Given the description of an element on the screen output the (x, y) to click on. 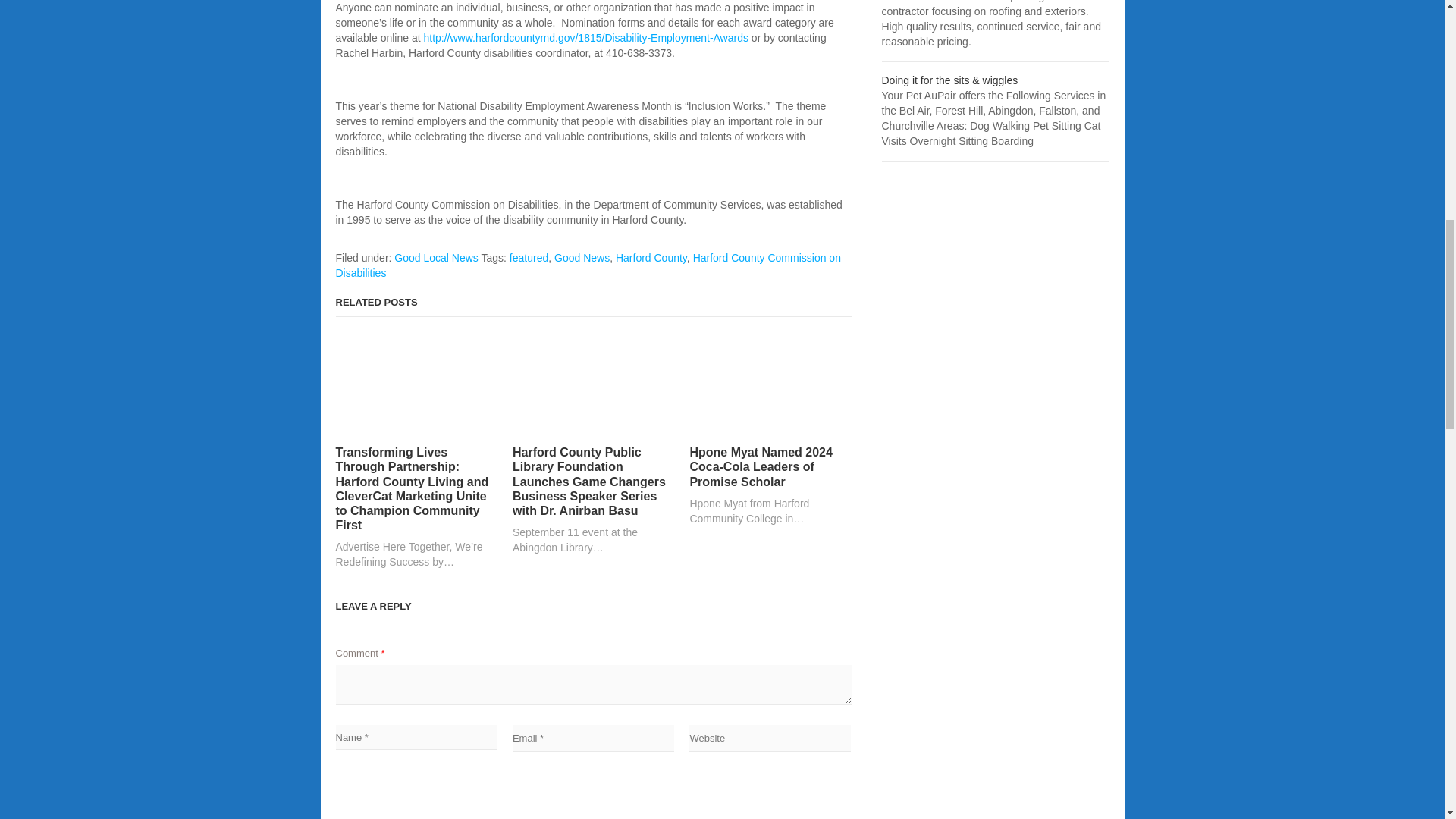
Harford County Commission on Disabilities (587, 265)
Harford County (651, 257)
Good Local News (436, 257)
Your Pet AuPair (948, 80)
Good News (582, 257)
featured (528, 257)
